Given the description of an element on the screen output the (x, y) to click on. 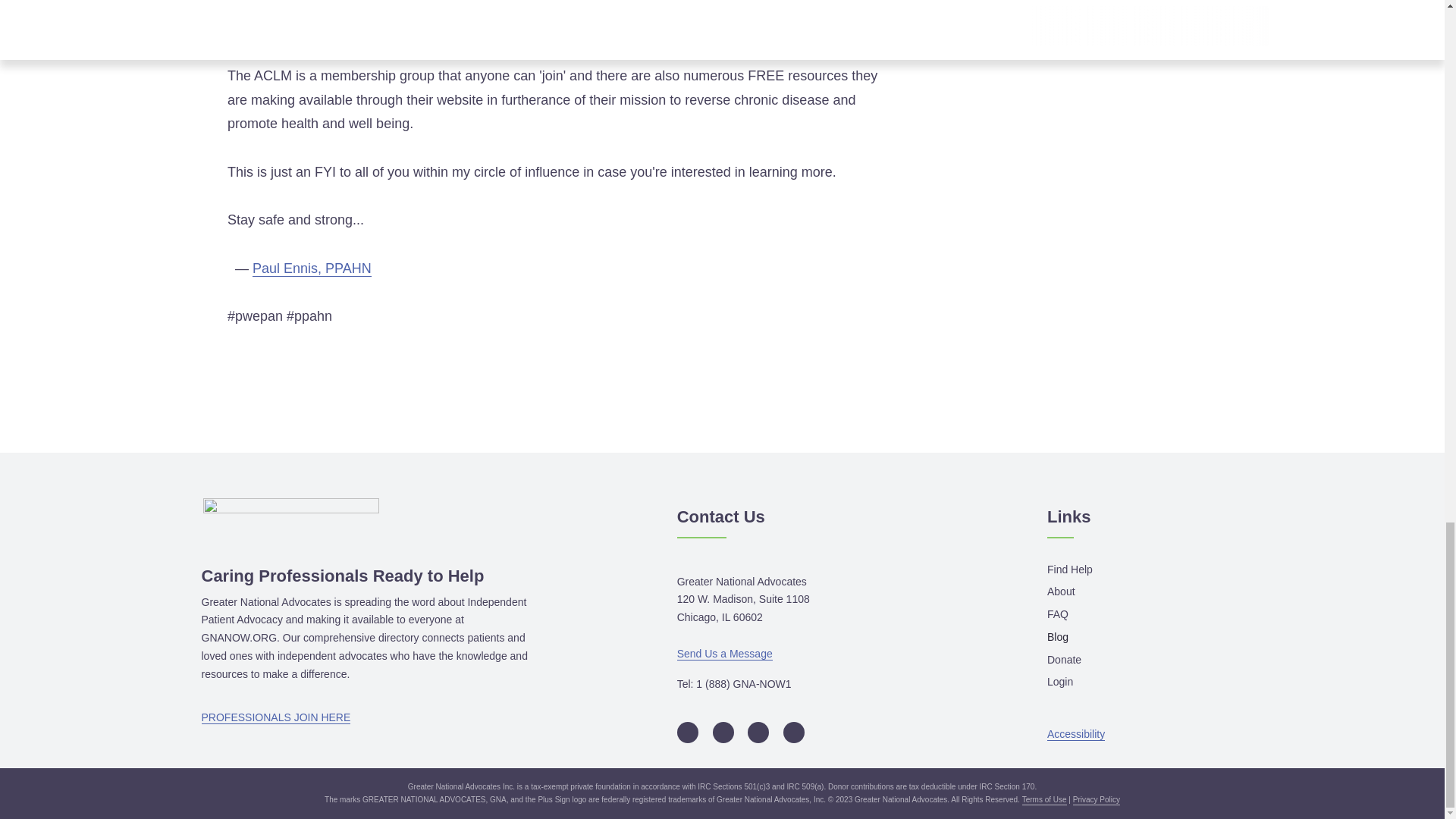
About (1060, 592)
Find Help (1069, 570)
FAQ (1057, 615)
Paul Ennis, PPAHN (311, 268)
